Given the description of an element on the screen output the (x, y) to click on. 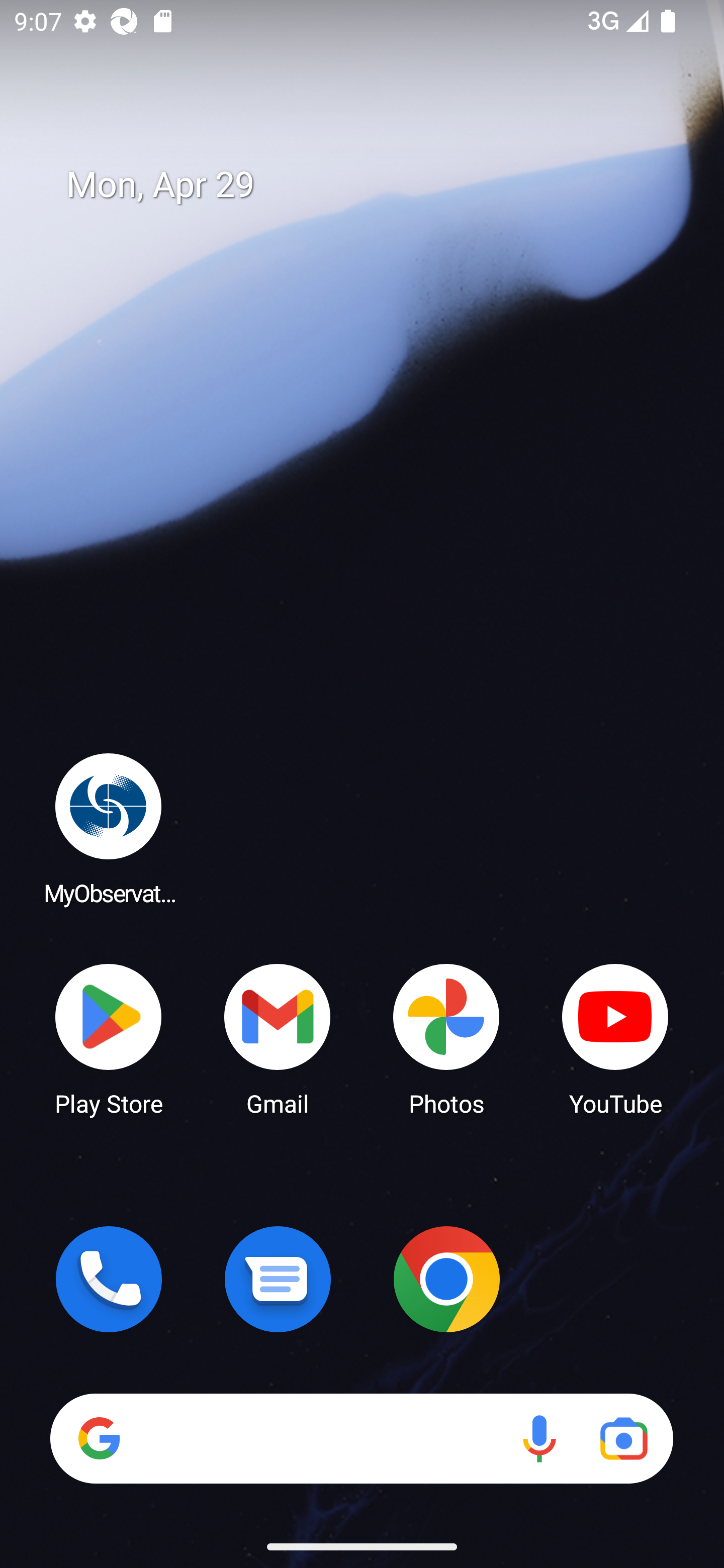
Mon, Apr 29 (375, 184)
MyObservatory (108, 828)
Play Store (108, 1038)
Gmail (277, 1038)
Photos (445, 1038)
YouTube (615, 1038)
Phone (108, 1279)
Messages (277, 1279)
Chrome (446, 1279)
Voice search (539, 1438)
Google Lens (623, 1438)
